Given the description of an element on the screen output the (x, y) to click on. 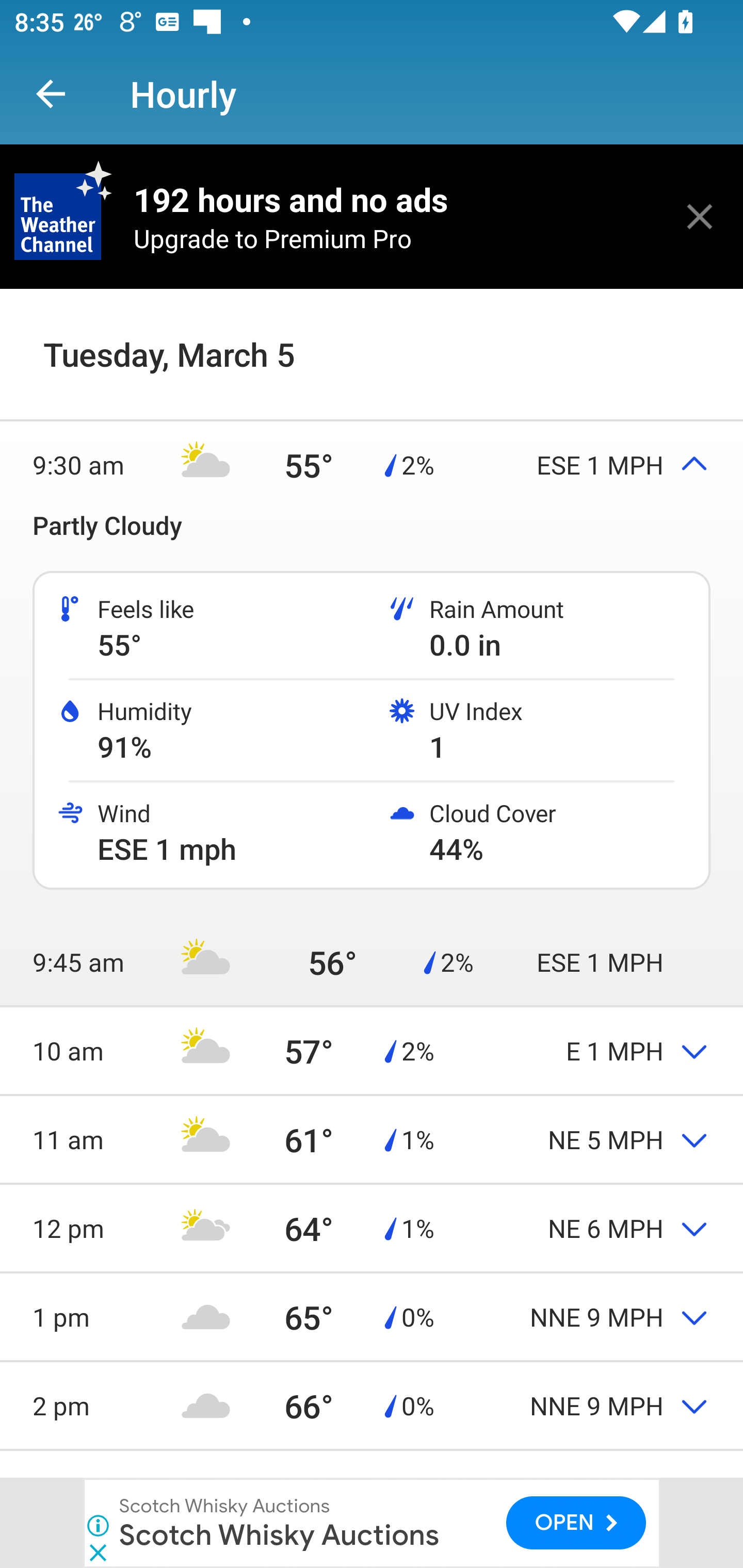
Navigate up (50, 93)
close this (699, 216)
9:30 am 55° 2% ESE 1 MPH (371, 464)
10 am 57° 2% E 1 MPH (371, 1050)
11 am 61° 1% NE 5 MPH (371, 1139)
12 pm 64° 1% NE 6 MPH (371, 1228)
1 pm 65° 0% NNE 9 MPH (371, 1316)
2 pm 66° 0% NNE 9 MPH (371, 1405)
Scotch Whisky Auctions (225, 1505)
OPEN (576, 1522)
Scotch Whisky Auctions (278, 1533)
